Given the description of an element on the screen output the (x, y) to click on. 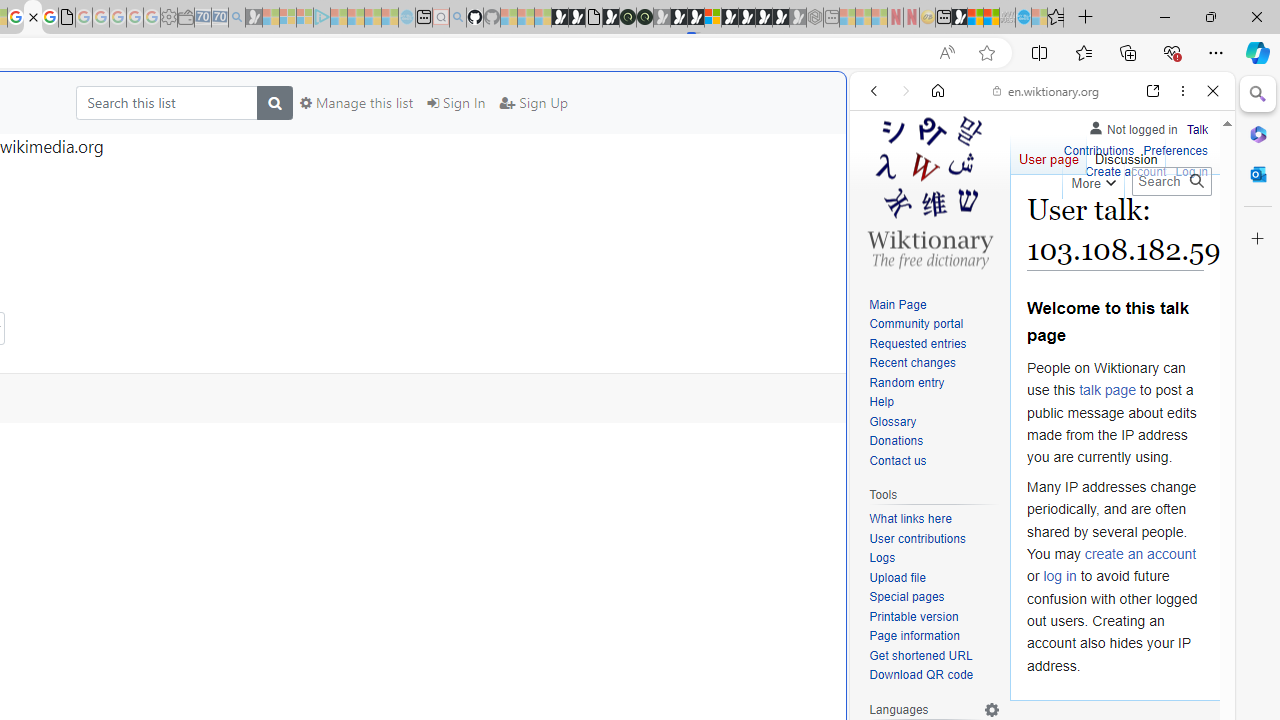
Special pages (934, 597)
Contact us (897, 460)
What links here (934, 519)
Wiktionary (1034, 669)
User page (1048, 154)
Talk (1197, 129)
Settings - Sleeping (168, 17)
Main Page (934, 305)
